Given the description of an element on the screen output the (x, y) to click on. 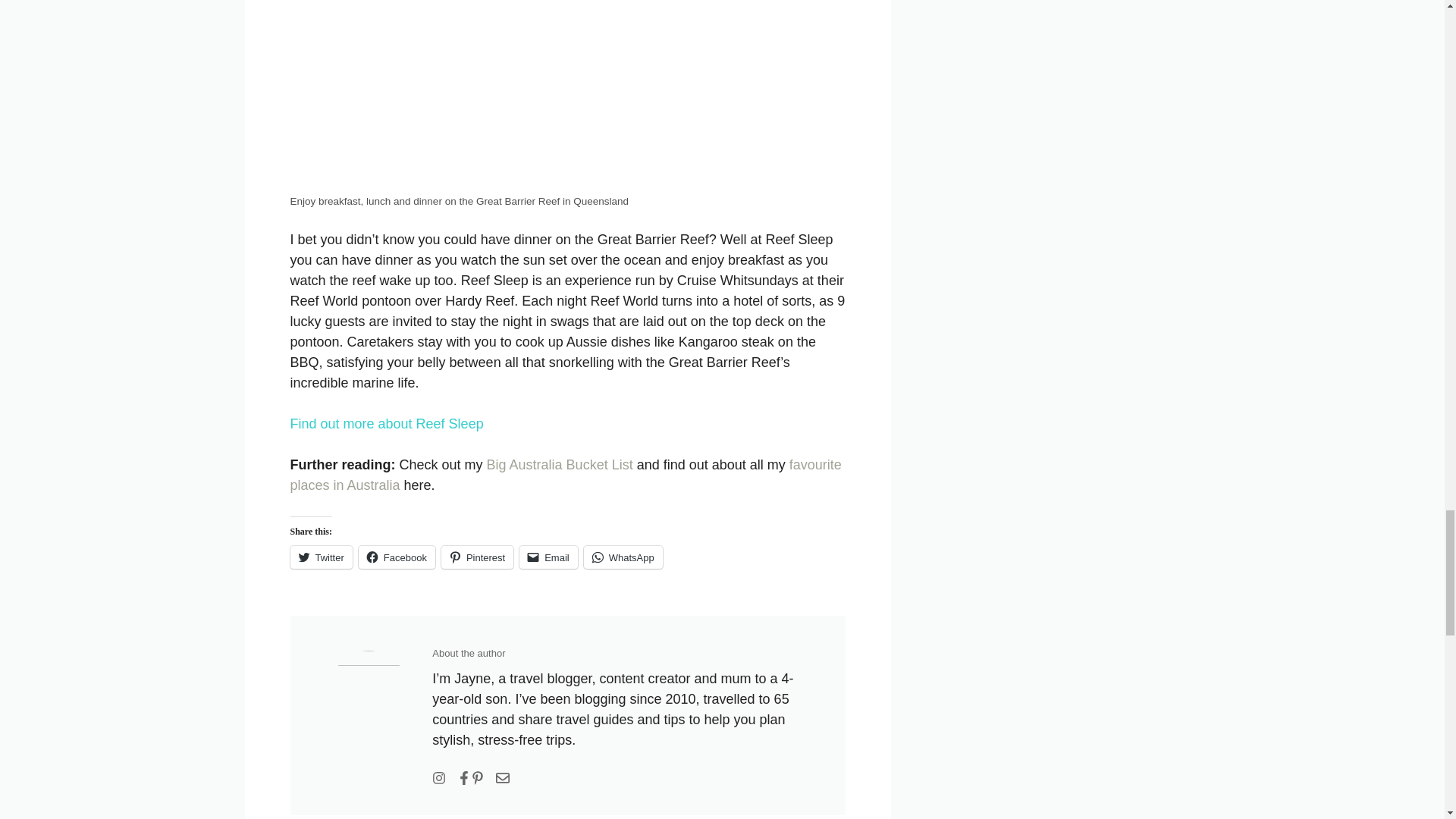
favourite places in Australia (565, 475)
Pinterest (477, 557)
Click to share on Facebook (396, 557)
Click to email a link to a friend (548, 557)
Twitter (320, 557)
Click to share on Twitter (320, 557)
Click to share on Pinterest (477, 557)
WhatsApp (622, 557)
Big Australia Bucket List (559, 464)
Click to share on WhatsApp (622, 557)
Email (548, 557)
Facebook (396, 557)
Find out more about Reef Sleep (386, 423)
